Given the description of an element on the screen output the (x, y) to click on. 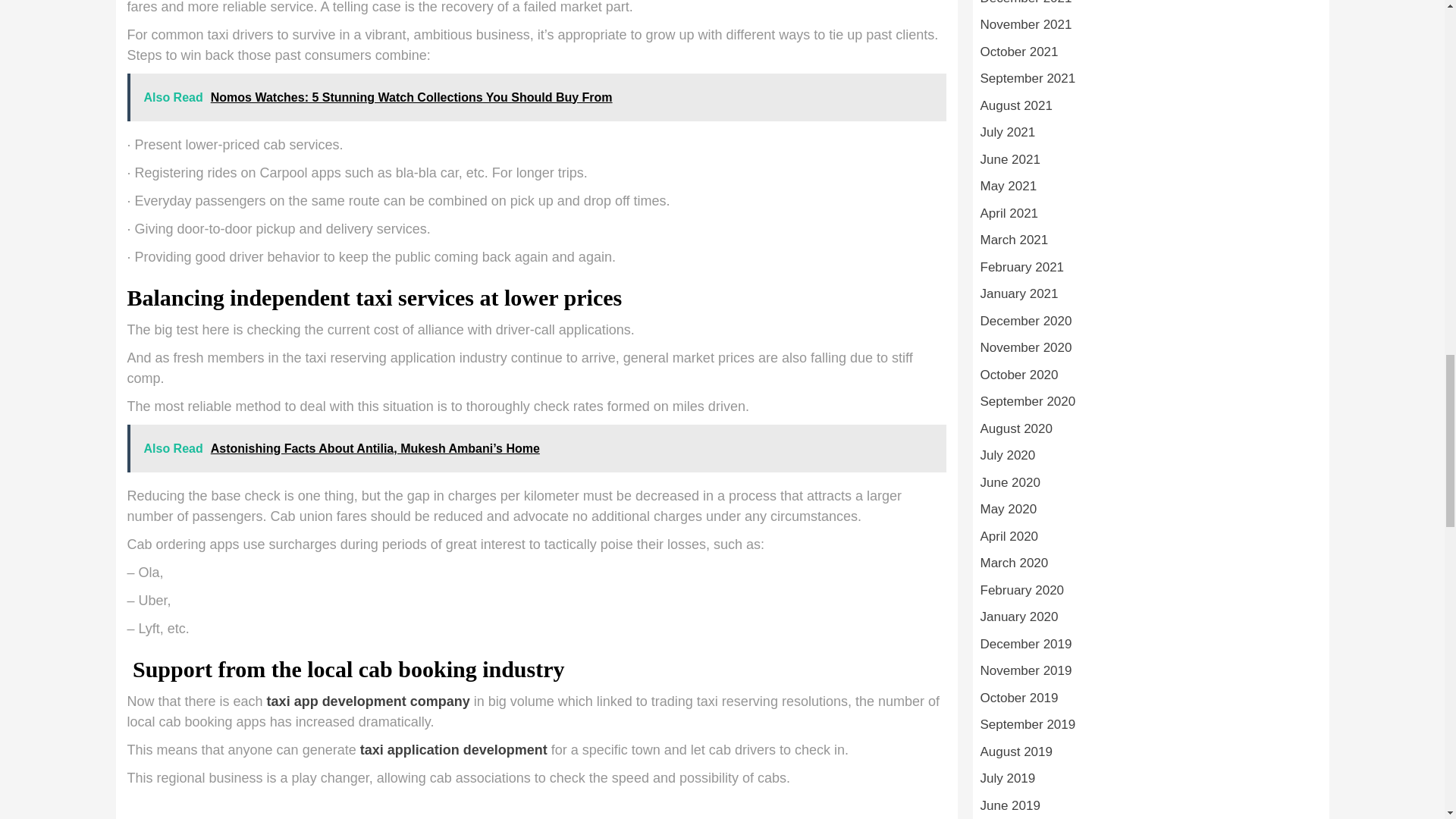
taxi app development company (368, 701)
taxi application development (453, 749)
